Given the description of an element on the screen output the (x, y) to click on. 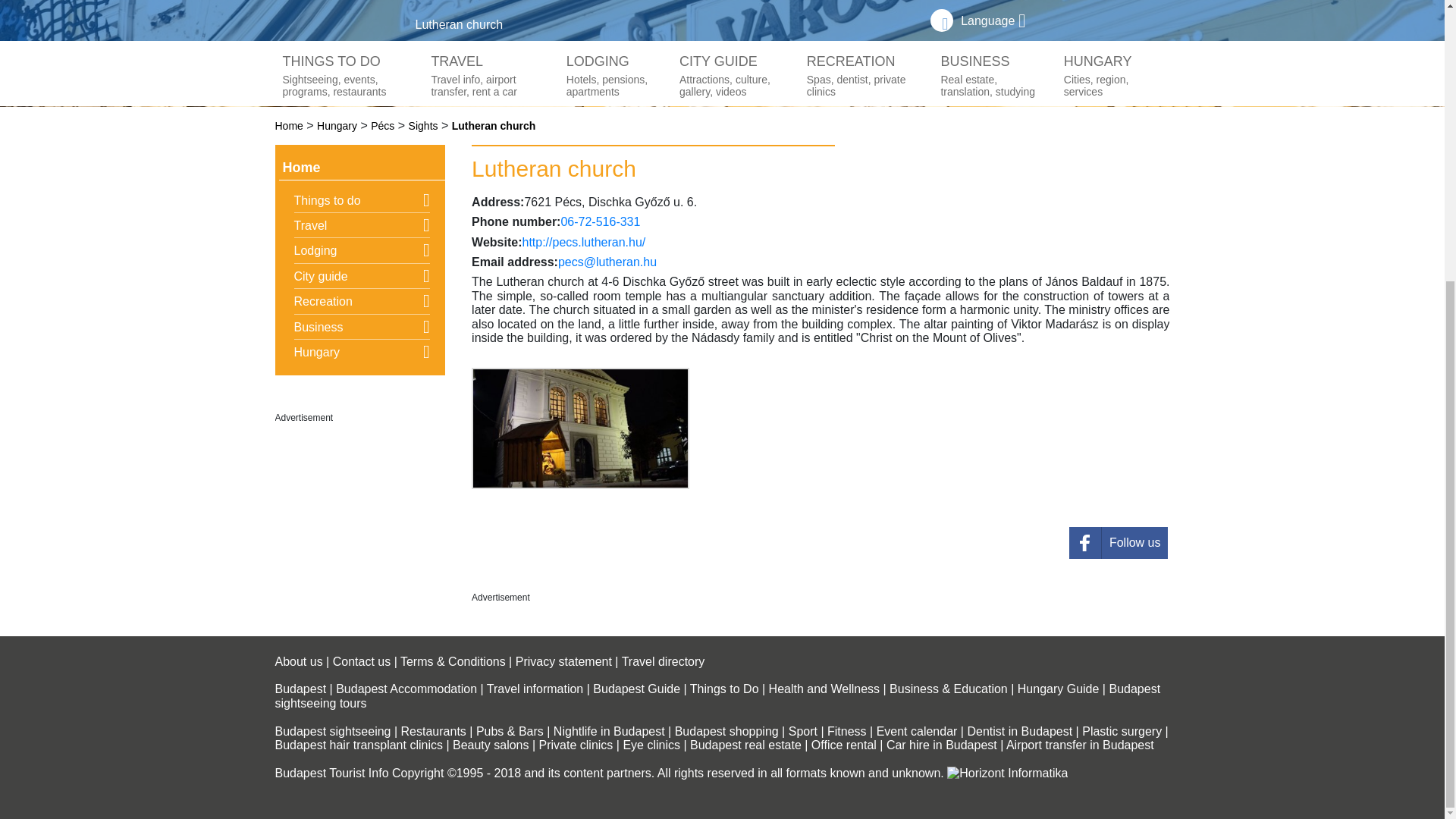
Sights (423, 125)
Home (288, 125)
Hungary (336, 125)
